Given the description of an element on the screen output the (x, y) to click on. 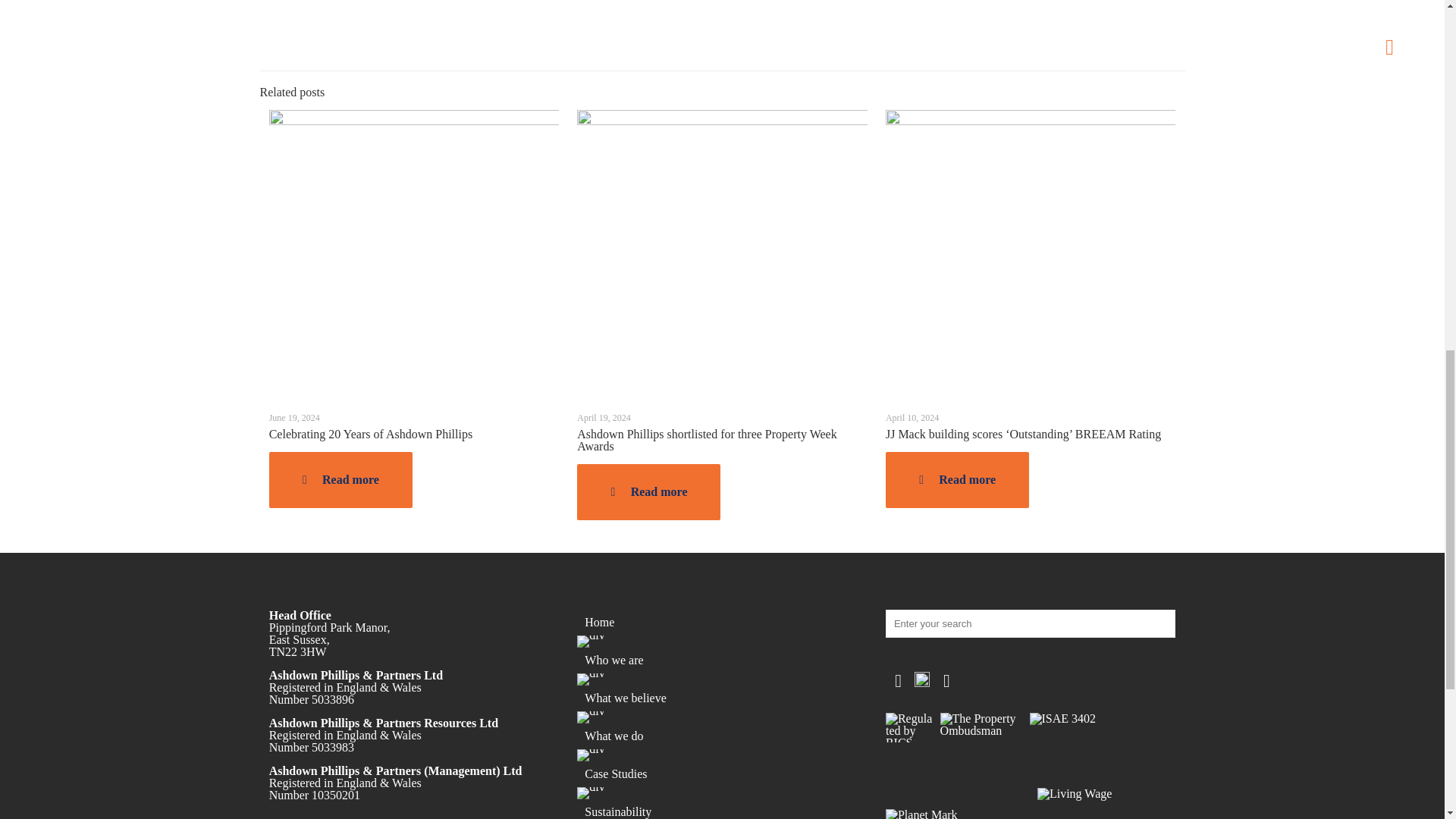
Celebrating 20 Years of Ashdown Phillips (370, 433)
Read more (340, 479)
Read more (648, 492)
Ashdown Phillips shortlisted for three Property Week Awards (705, 439)
